Given the description of an element on the screen output the (x, y) to click on. 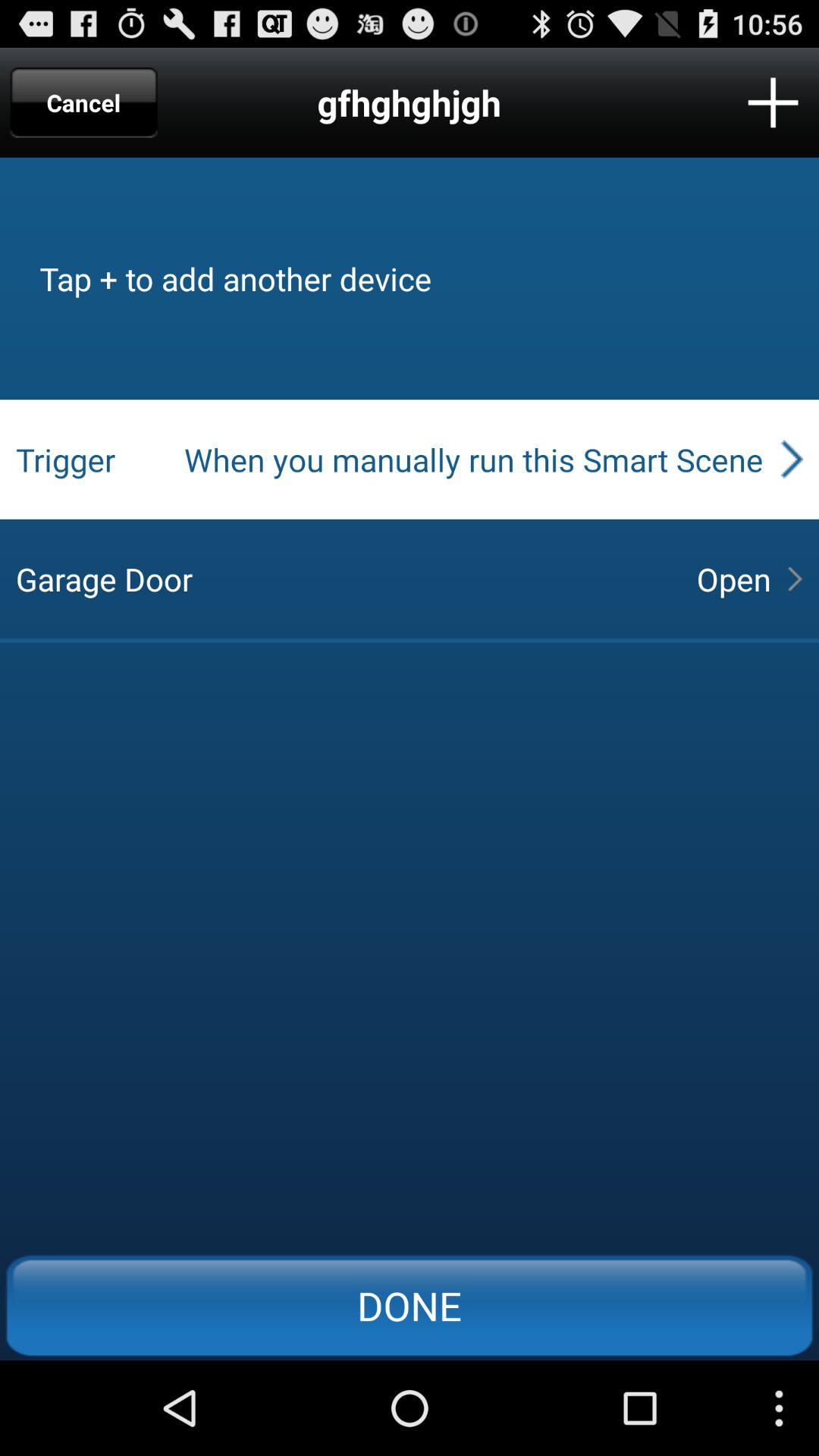
scroll until the done (409, 1305)
